Given the description of an element on the screen output the (x, y) to click on. 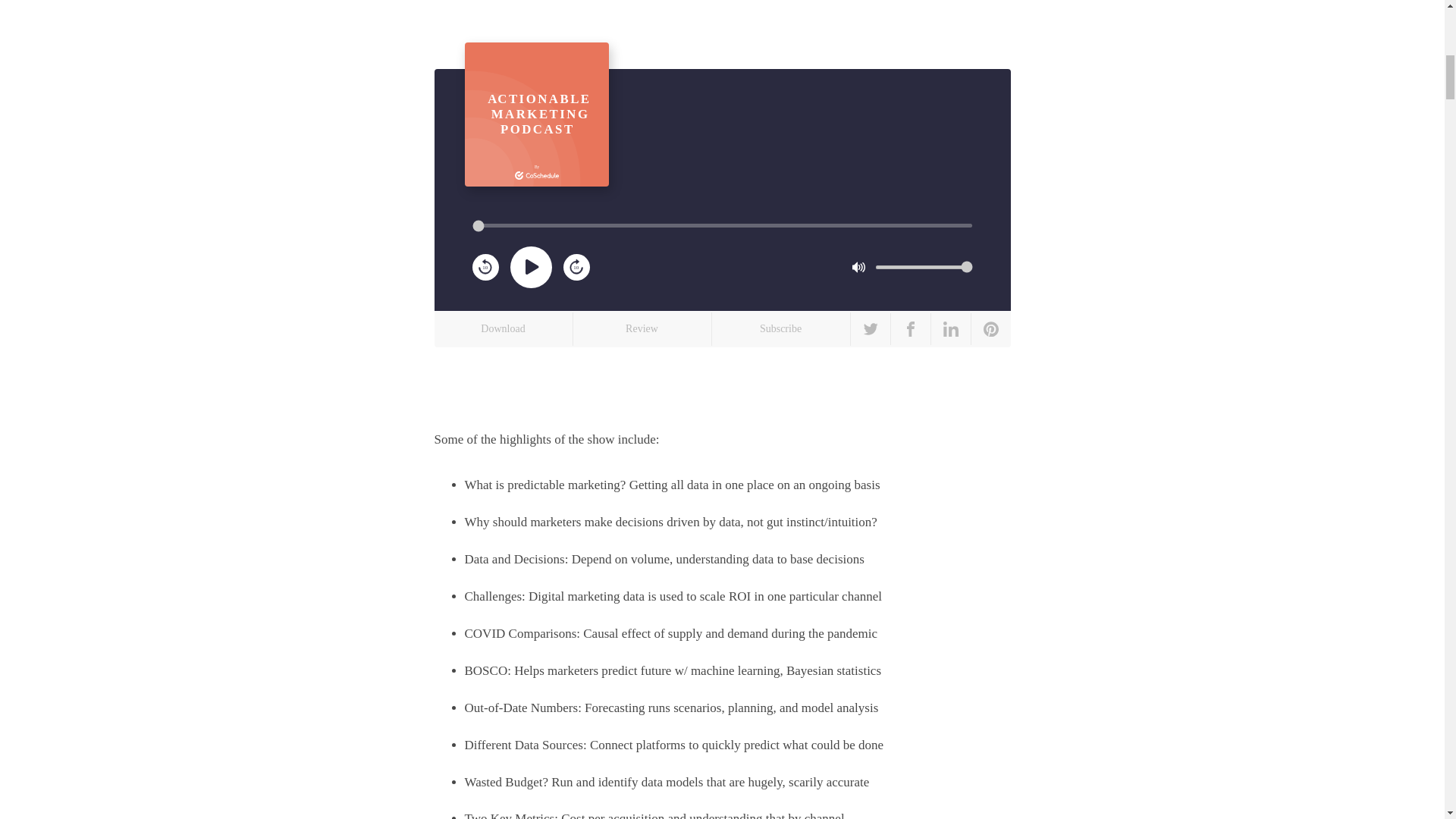
10 (485, 265)
Download (502, 328)
1 (536, 114)
0 (923, 267)
10 (780, 328)
Review (484, 266)
10 (641, 328)
10 (575, 266)
